Given the description of an element on the screen output the (x, y) to click on. 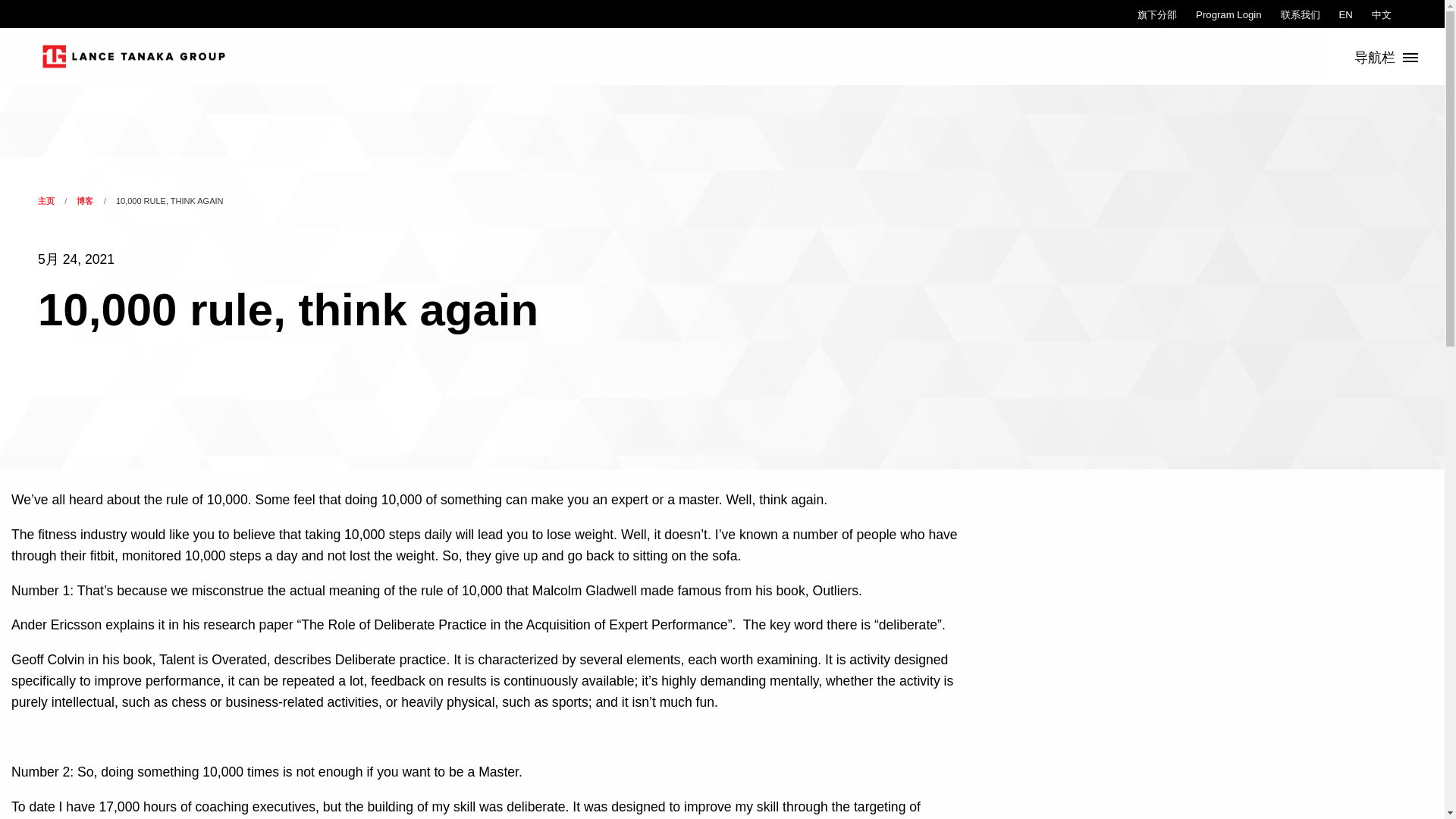
Program Login (1228, 14)
EN (1345, 14)
